Given the description of an element on the screen output the (x, y) to click on. 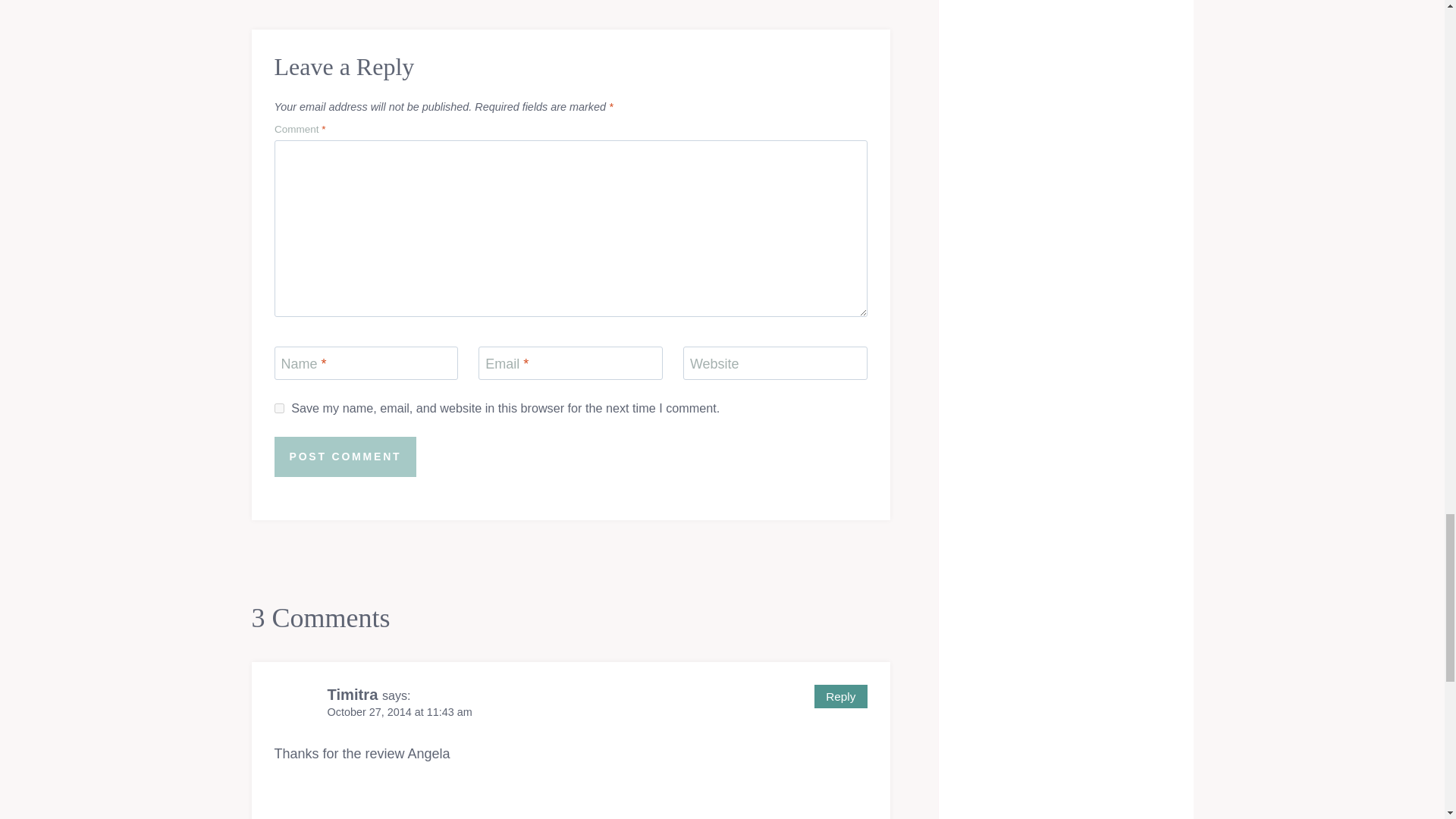
Post Comment (345, 456)
yes (279, 408)
